Given the description of an element on the screen output the (x, y) to click on. 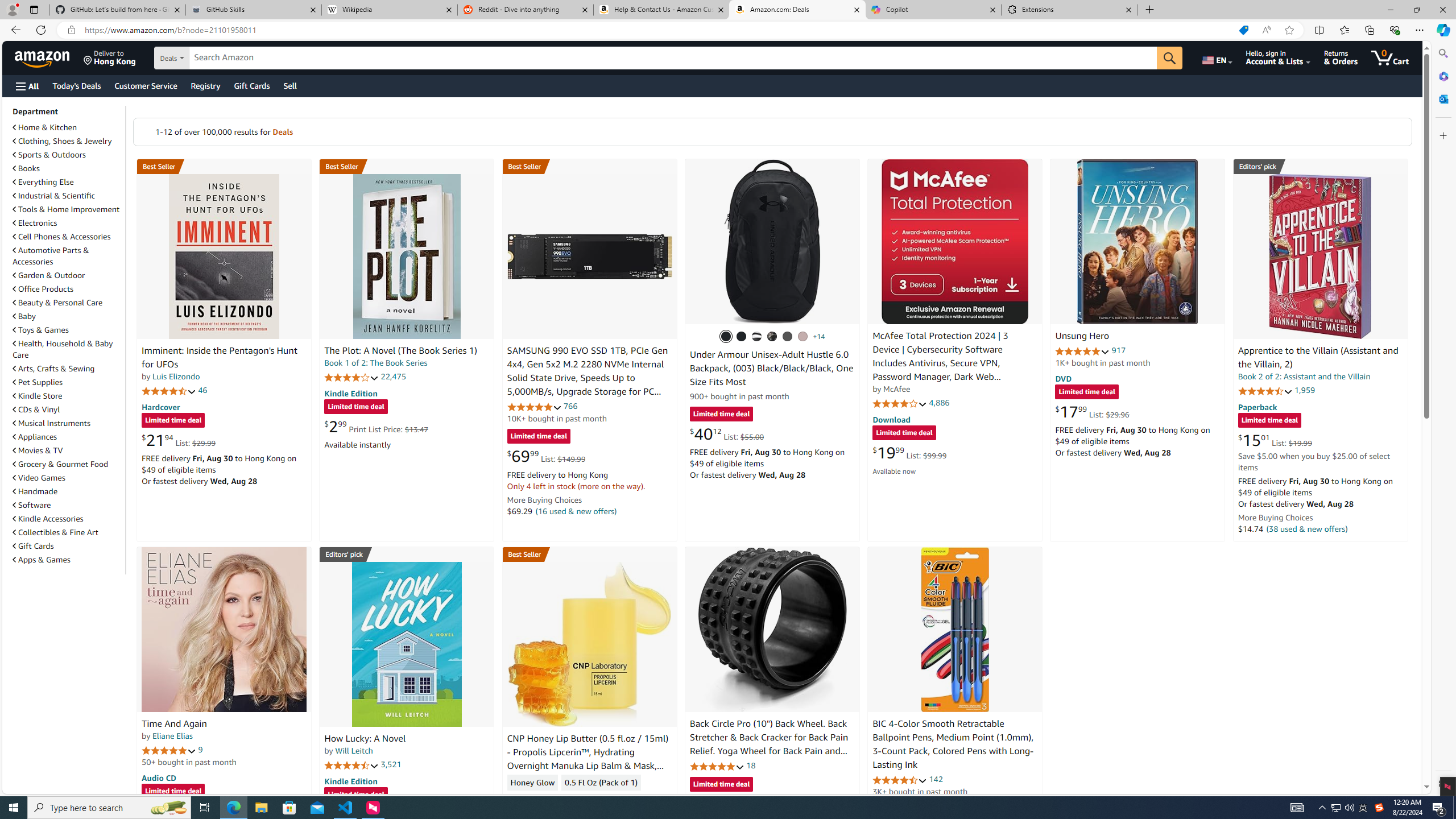
The Plot: A Novel (The Book Series 1) (400, 351)
Imminent: Inside the Pentagon's Hunt for UFOs (219, 358)
(004) Black / Black / Metallic Gold (772, 336)
+14 (818, 336)
Video Games (67, 477)
Movies & TV (67, 450)
Baby (67, 315)
766 (570, 406)
(015) Tetra Gray / Tetra Gray / Gray Matter (802, 336)
Apprentice to the Villain (Assistant and the Villain, 2) (1319, 256)
Gift Cards (67, 546)
